Given the description of an element on the screen output the (x, y) to click on. 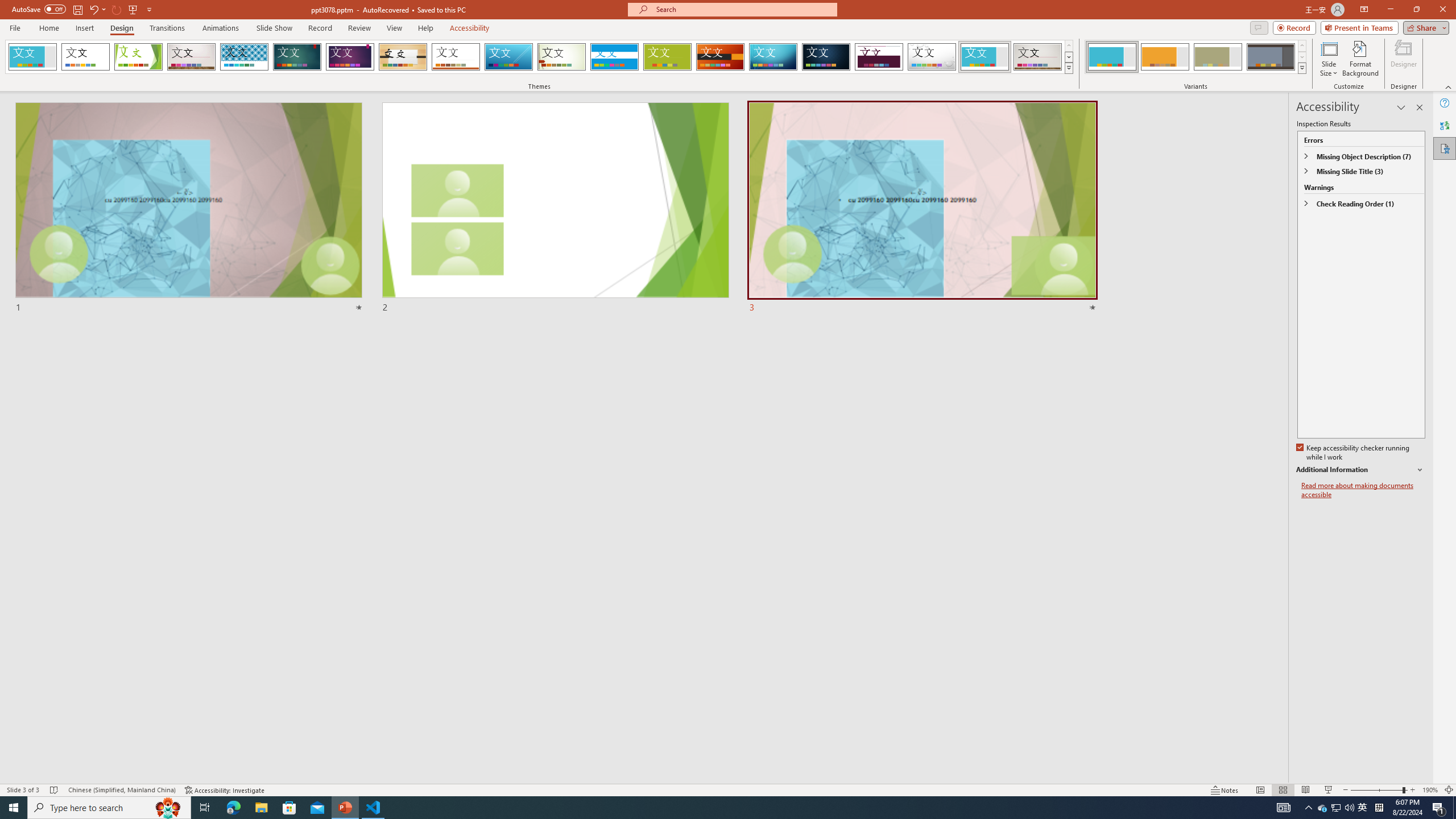
Integral (244, 56)
Basis (667, 56)
Office Theme (85, 56)
Ion Boardroom (350, 56)
